Given the description of an element on the screen output the (x, y) to click on. 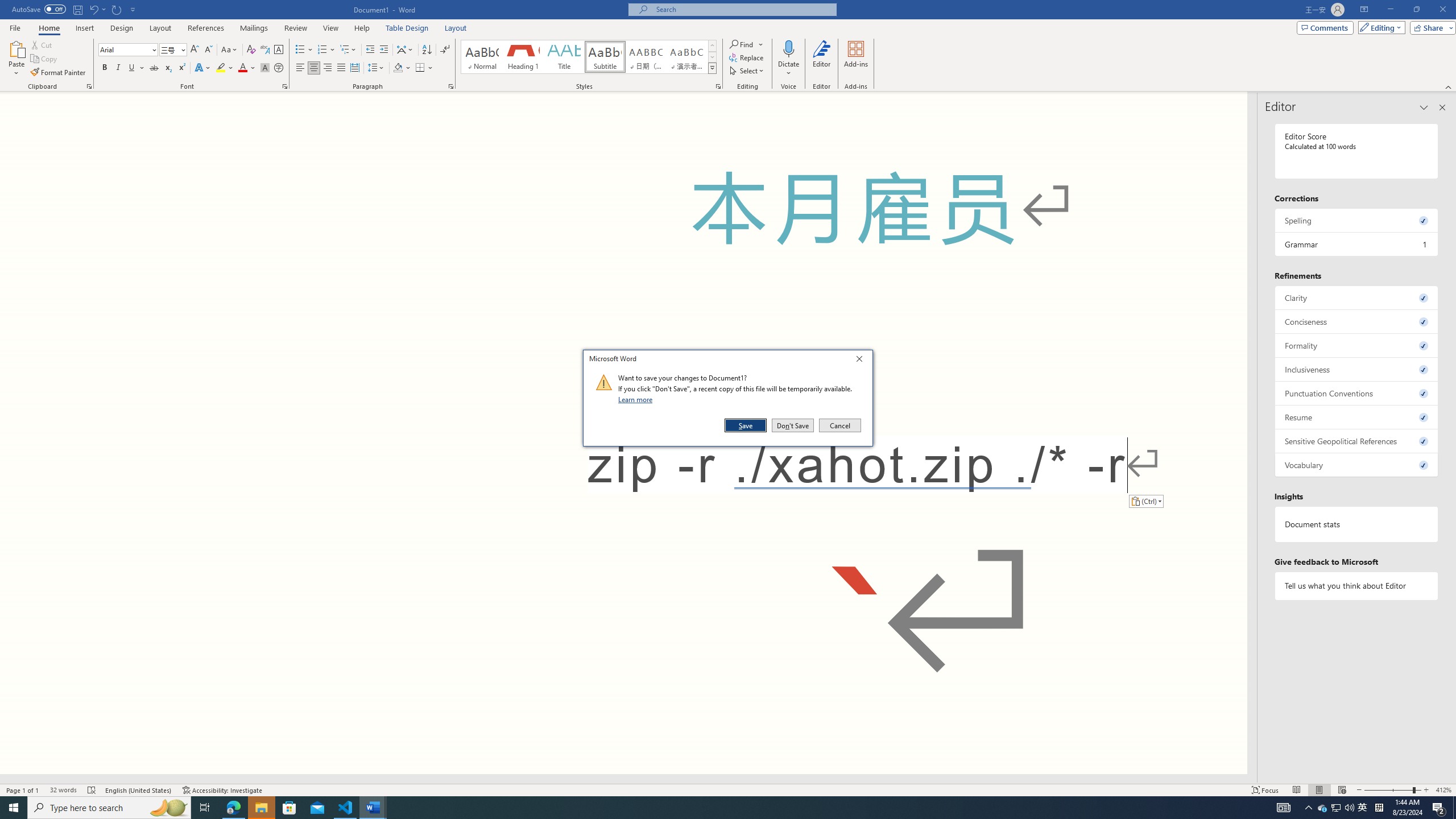
Action: Paste alternatives (1145, 500)
Resume, 0 issues. Press space or enter to review items. (1356, 417)
